Given the description of an element on the screen output the (x, y) to click on. 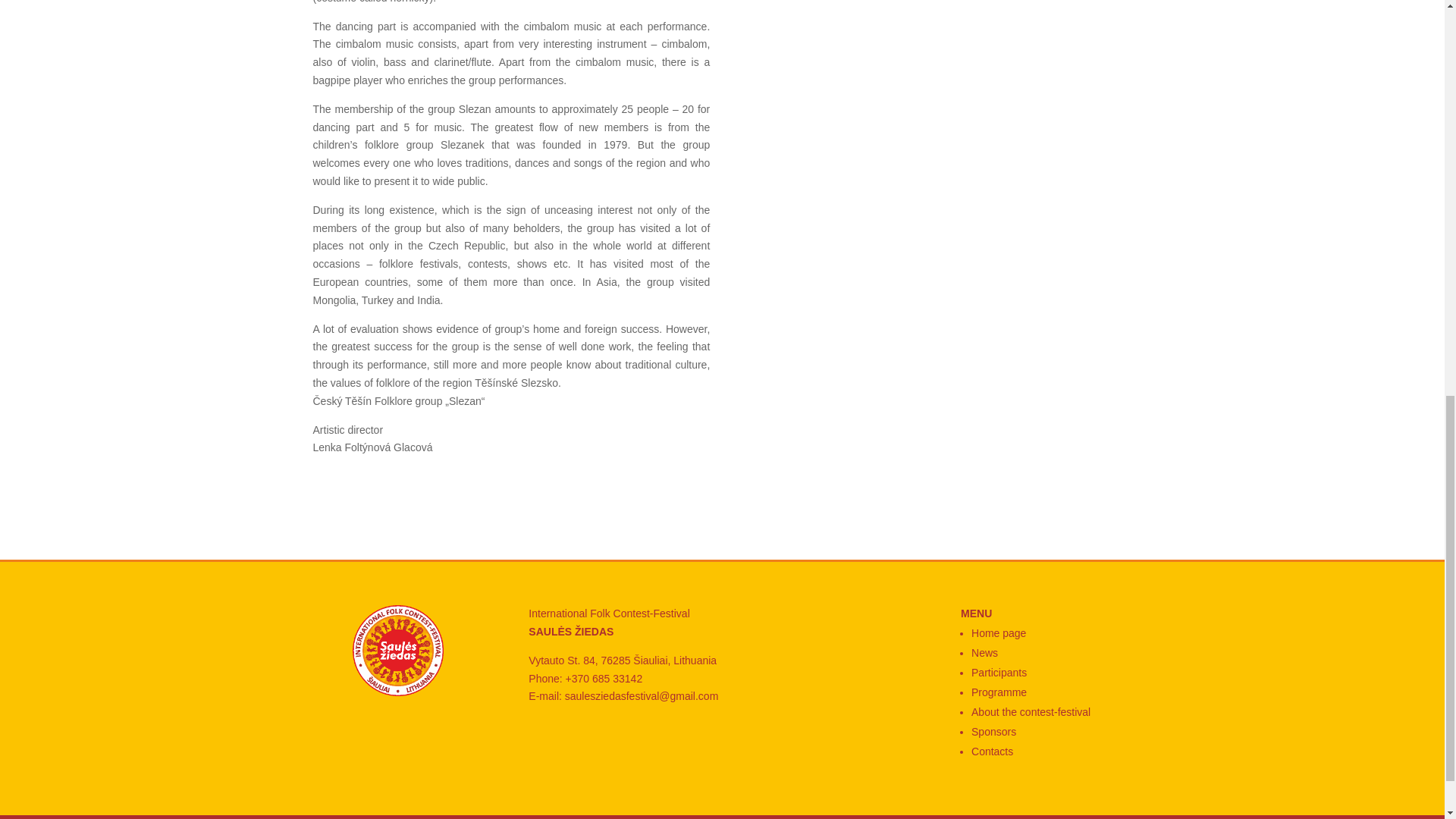
News (984, 653)
Home page (998, 633)
Programme (998, 692)
Sponsors (993, 731)
Participants (998, 672)
Contacts (992, 751)
About the contest-festival (1030, 711)
